Given the description of an element on the screen output the (x, y) to click on. 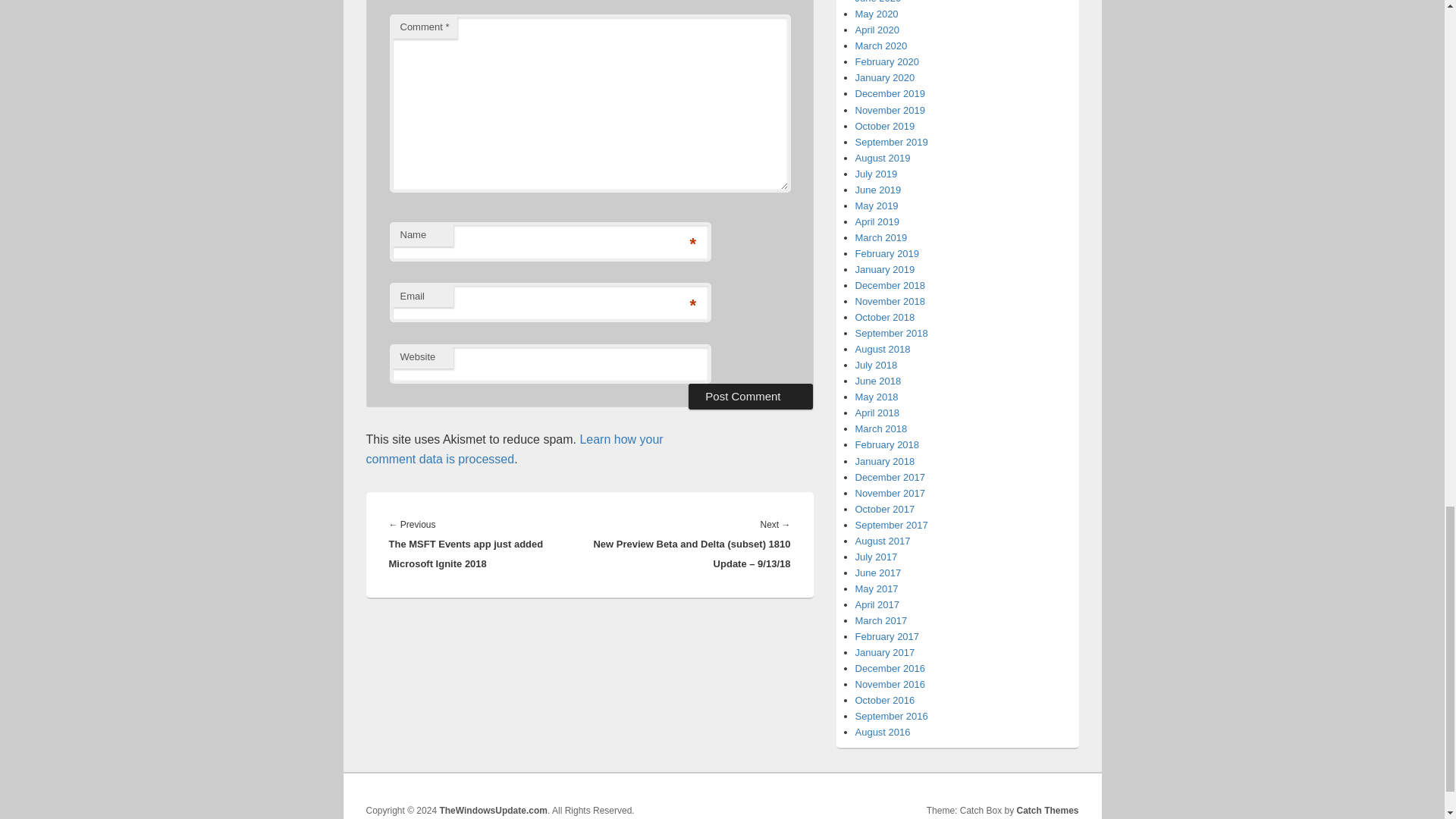
Catch Themes (1047, 810)
TheWindowsUpdate.com (493, 810)
Post Comment (750, 396)
Learn how your comment data is processed (513, 449)
Post Comment (750, 396)
